Given the description of an element on the screen output the (x, y) to click on. 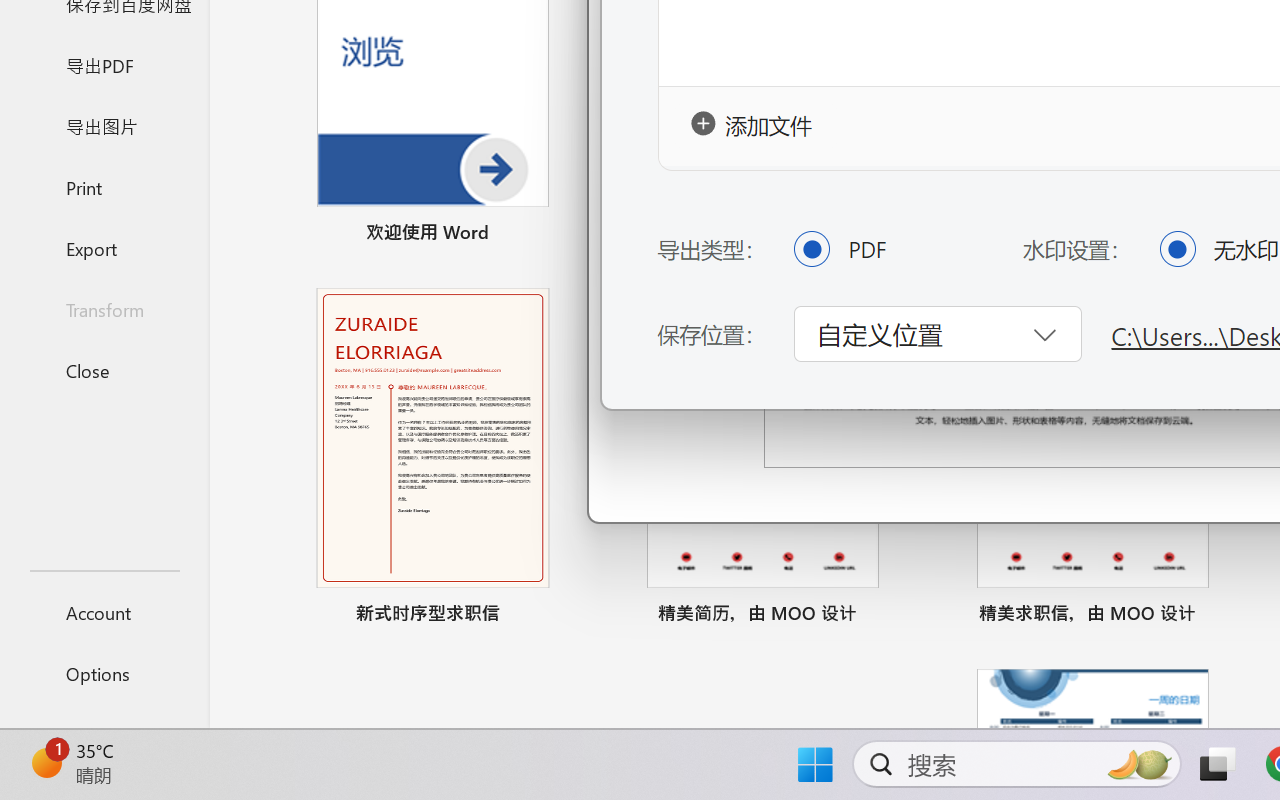
PDF (811, 248)
Pin to list (1223, 616)
Export (104, 248)
Transform (104, 309)
Options (104, 673)
Print (104, 186)
